Given the description of an element on the screen output the (x, y) to click on. 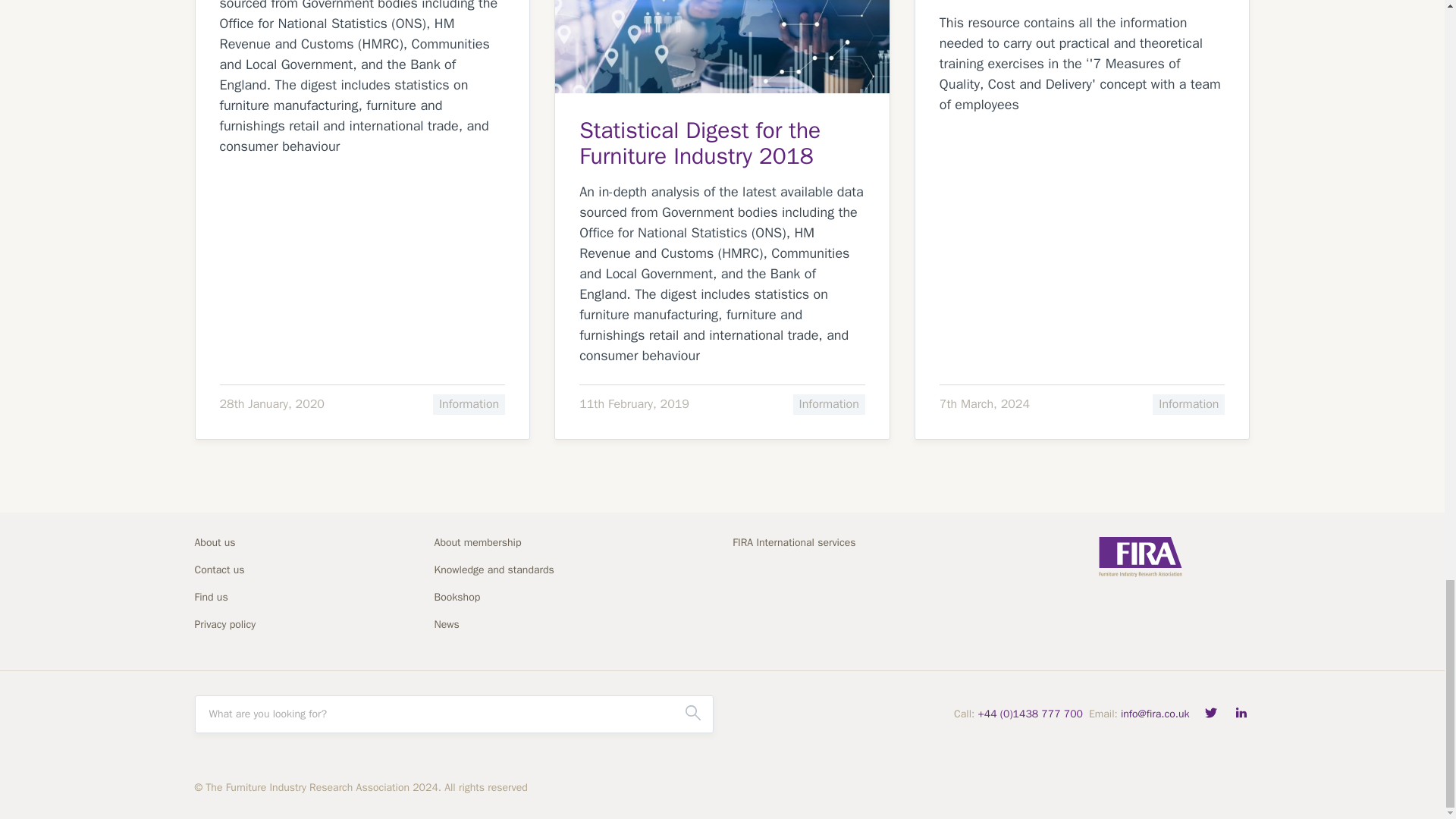
Knowledge and standards (505, 574)
Visit the Contact us page (236, 574)
Visit the News page (505, 629)
Visit the Knowledge and standards page (505, 574)
News (505, 629)
Visit the Bookshop page (505, 601)
Contact us (236, 574)
Visit the About us page (236, 547)
Visit the FIRA International services page (805, 547)
The Furniture Industry Research Association (1138, 557)
